Given the description of an element on the screen output the (x, y) to click on. 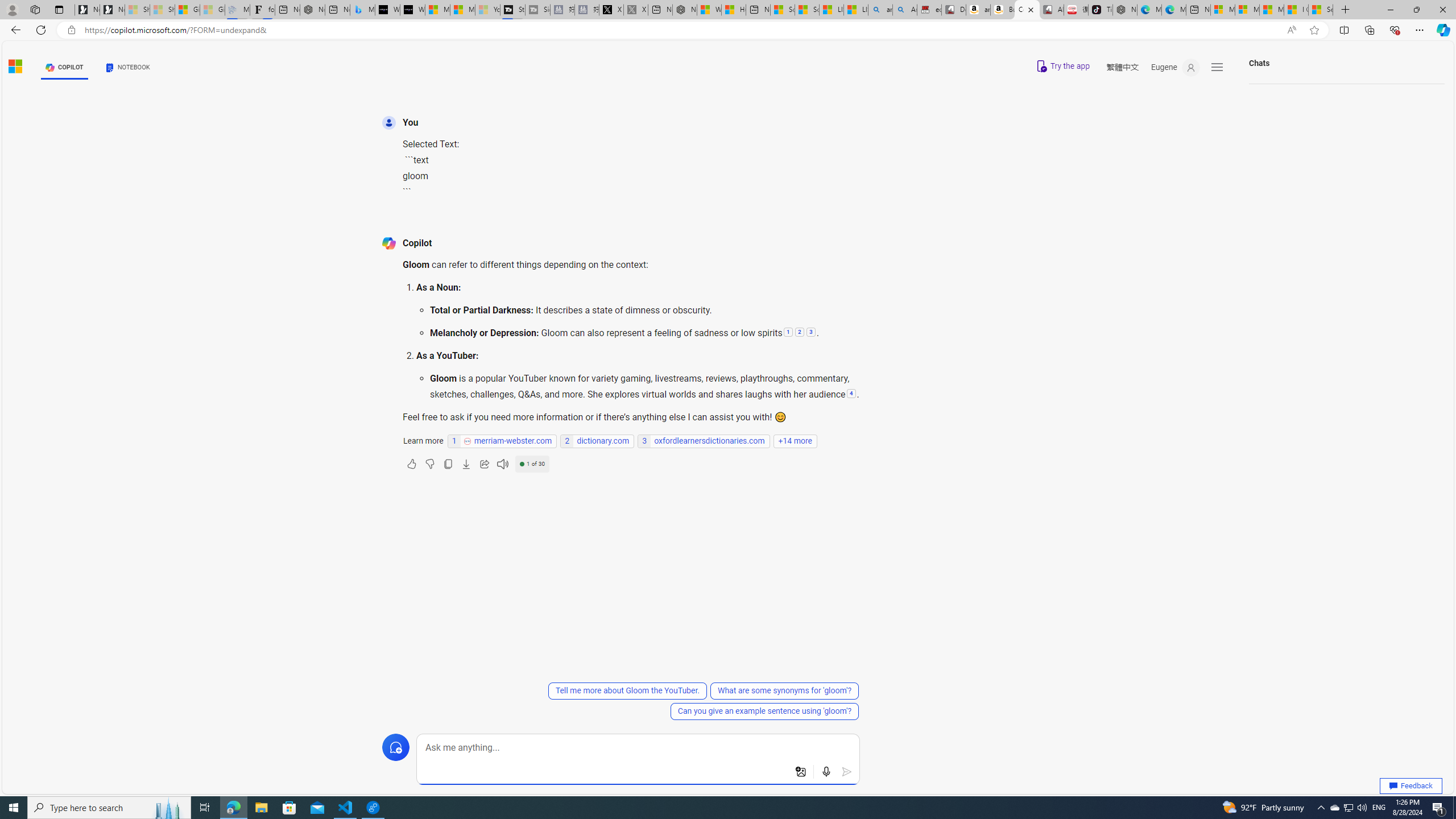
Microsoft account | Privacy (1246, 9)
Dislike (429, 464)
What's the best AI voice generator? - voice.ai (411, 9)
App bar (728, 29)
Microsoft Start Sports (437, 9)
Nordace - Best Sellers (1124, 9)
I Gained 20 Pounds of Muscle in 30 Days! | Watch (1296, 9)
Can you give an example sentence using 'gloom'? (764, 711)
Add an image to search (800, 771)
Share (484, 464)
